Given the description of an element on the screen output the (x, y) to click on. 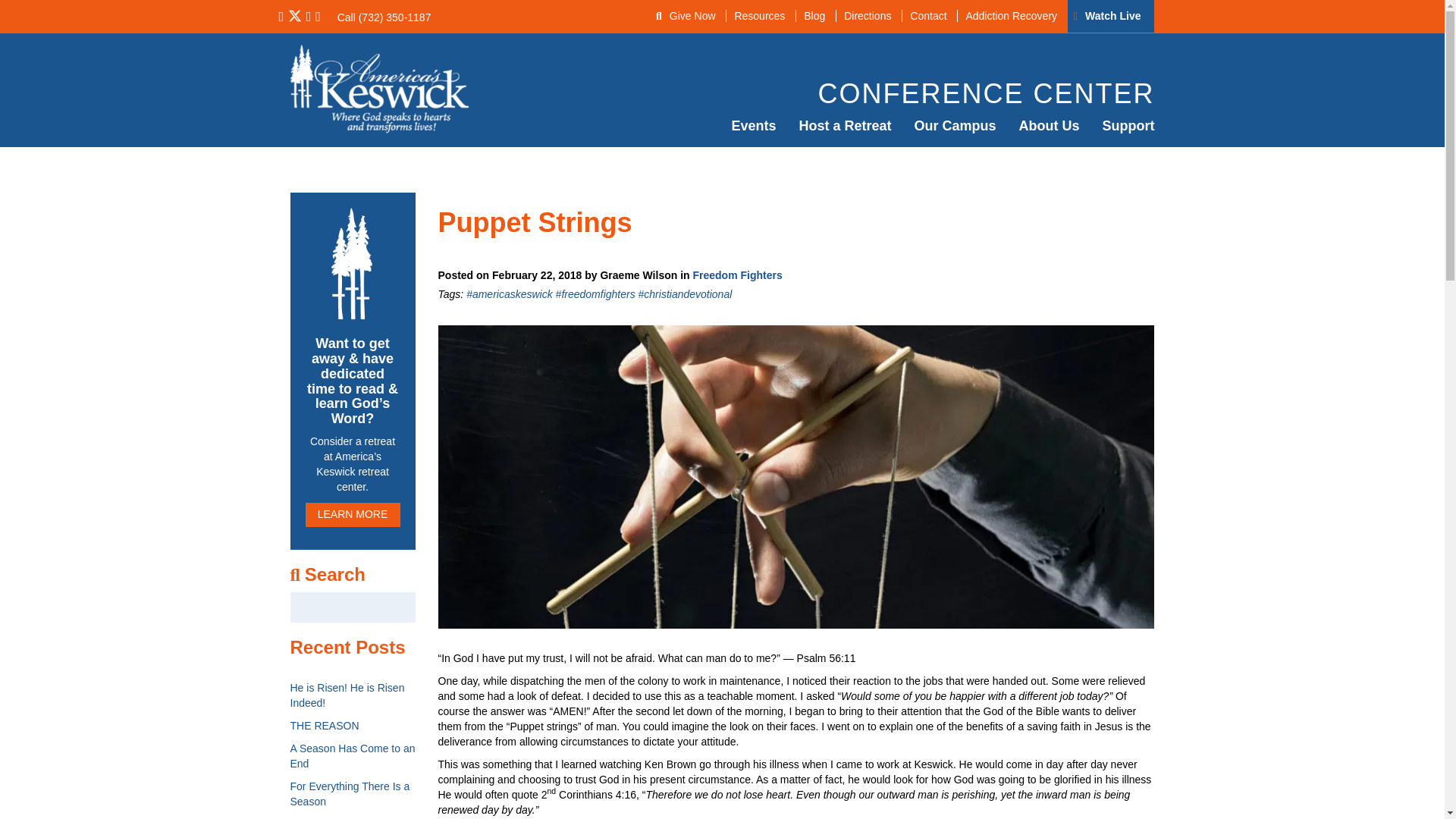
Events (753, 125)
Contact (927, 15)
Watch Live (1112, 15)
Give Now (692, 15)
Christian Events in NJ (753, 125)
Directions (866, 15)
Addiction Recovery (1010, 15)
Christian Retreat Center (844, 125)
Blog (813, 15)
Resources (758, 15)
Host a Retreat (844, 125)
